Given the description of an element on the screen output the (x, y) to click on. 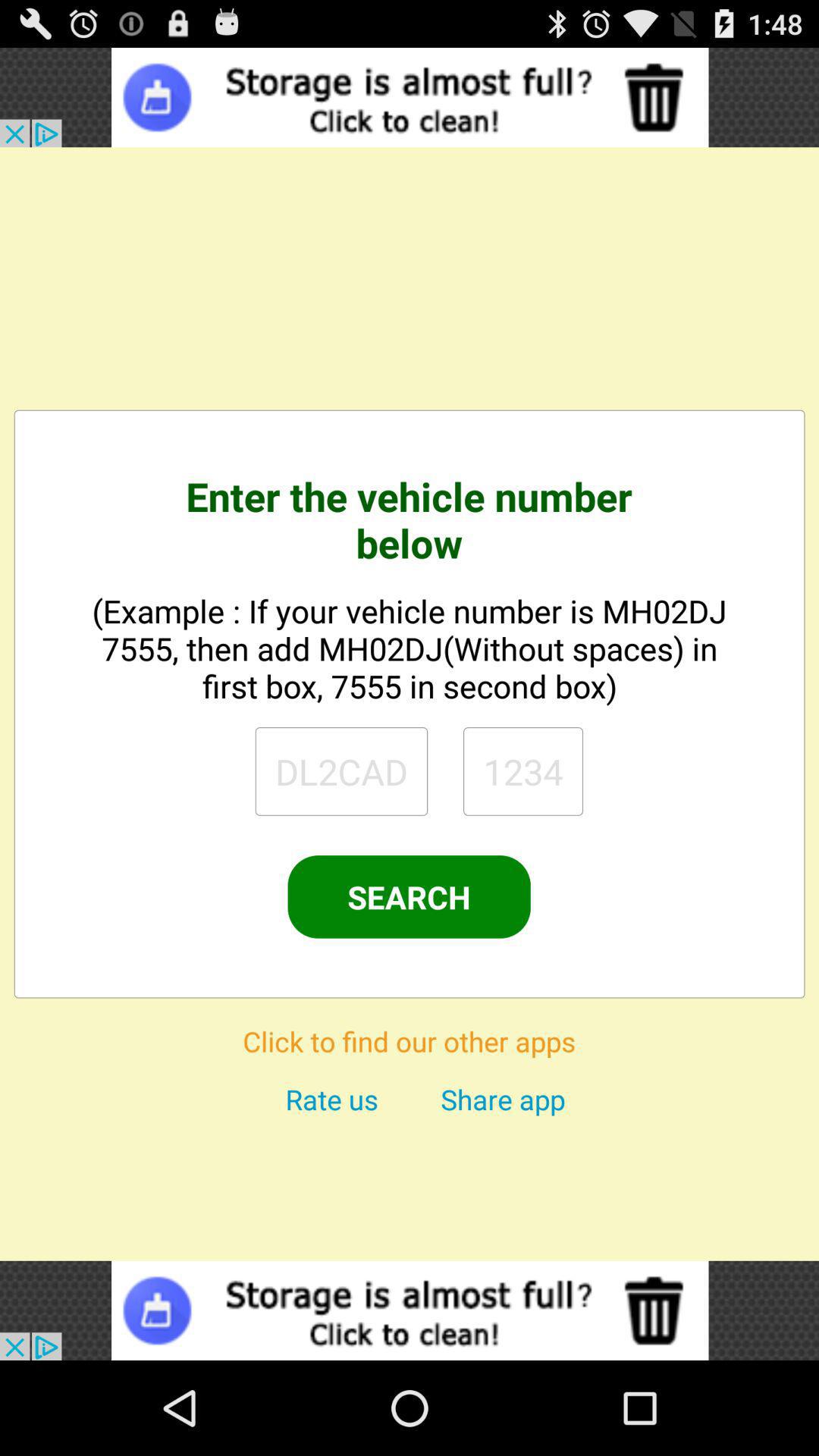
numbers (522, 771)
